Given the description of an element on the screen output the (x, y) to click on. 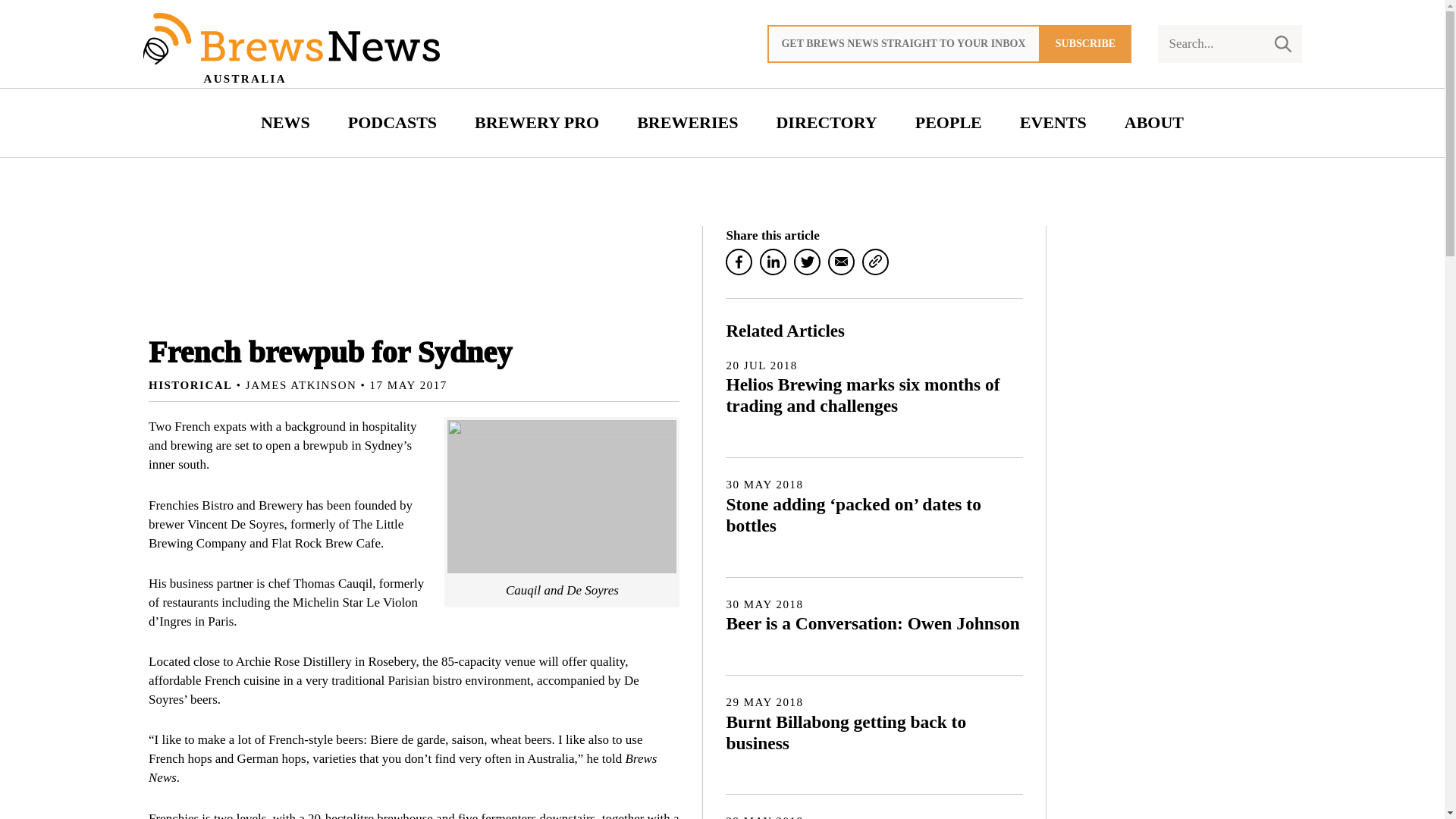
PODCASTS (392, 122)
Subscribe (1086, 44)
Copy link (874, 261)
SEARCH (1282, 44)
NEWS (284, 122)
BREWERIES (687, 122)
Facebook (738, 261)
Subscribe (1086, 44)
PEOPLE (948, 122)
DIRECTORY (826, 122)
EVENTS (1053, 122)
ABOUT (1154, 122)
BREWERY PRO (536, 122)
Email (841, 261)
Twitter (807, 261)
